Given the description of an element on the screen output the (x, y) to click on. 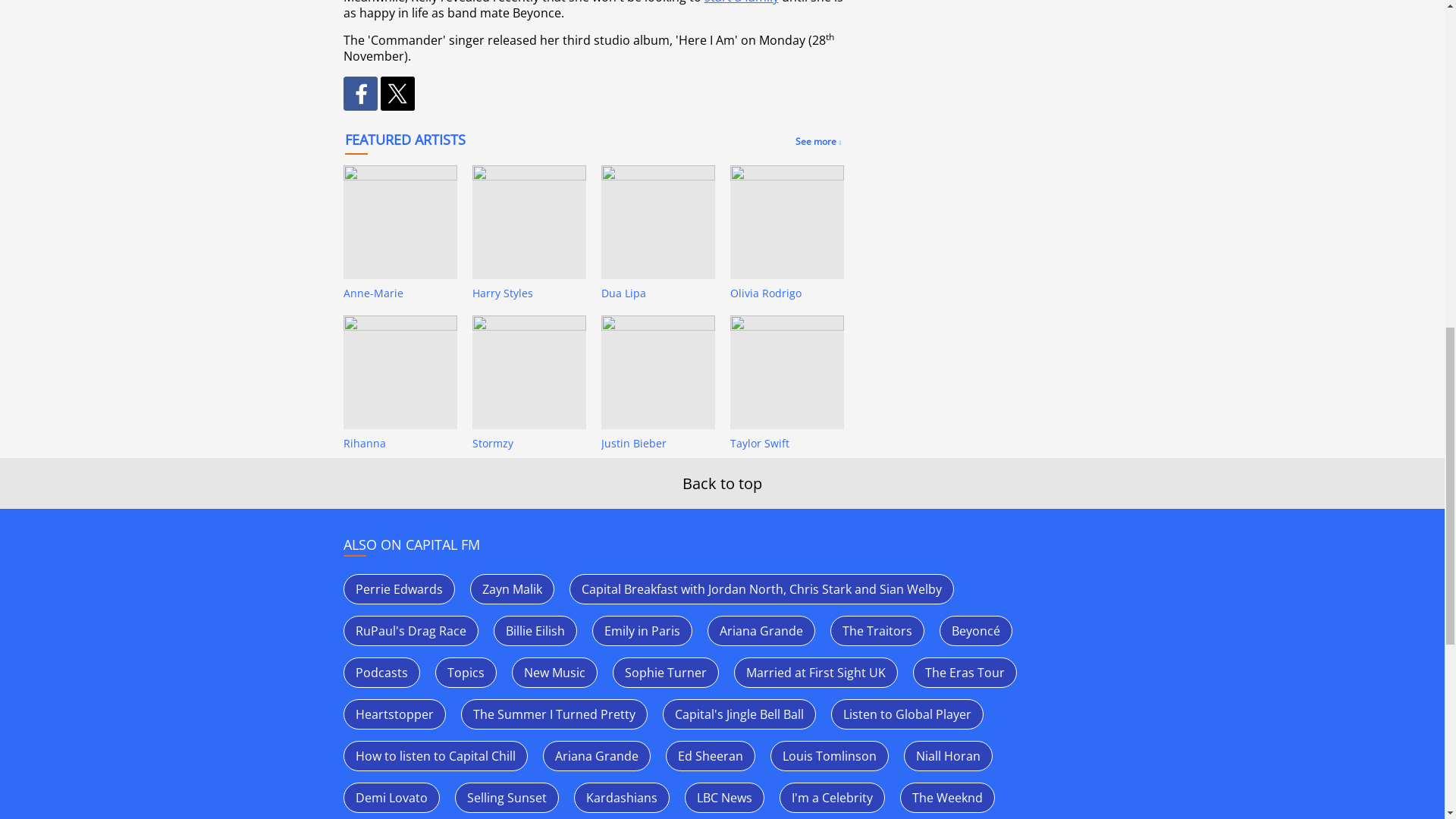
Back to top (721, 483)
